Given the description of an element on the screen output the (x, y) to click on. 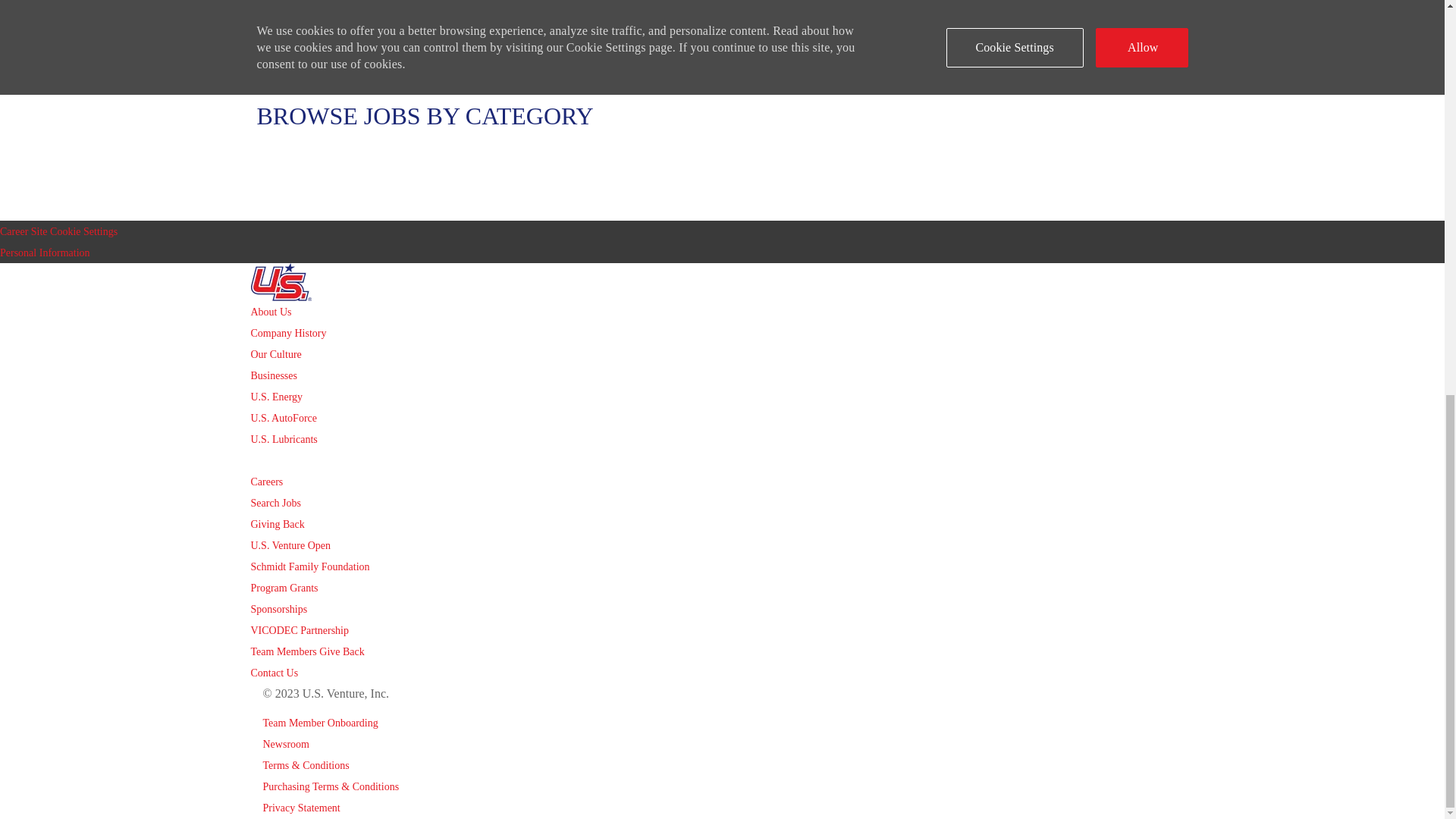
Contact Us (274, 672)
U.S. Energy (276, 396)
About Us (270, 311)
VICODEC Partnership (299, 630)
U.S. AutoForce (283, 418)
Newsroom (285, 744)
Team Member Onboarding (319, 722)
Company History (288, 333)
footer logo (721, 281)
Businesses (273, 375)
Search Jobs (275, 502)
Our Culture (275, 354)
Schmidt Family Foundation (309, 566)
Sponsorships (278, 609)
Giving Back (277, 523)
